Given the description of an element on the screen output the (x, y) to click on. 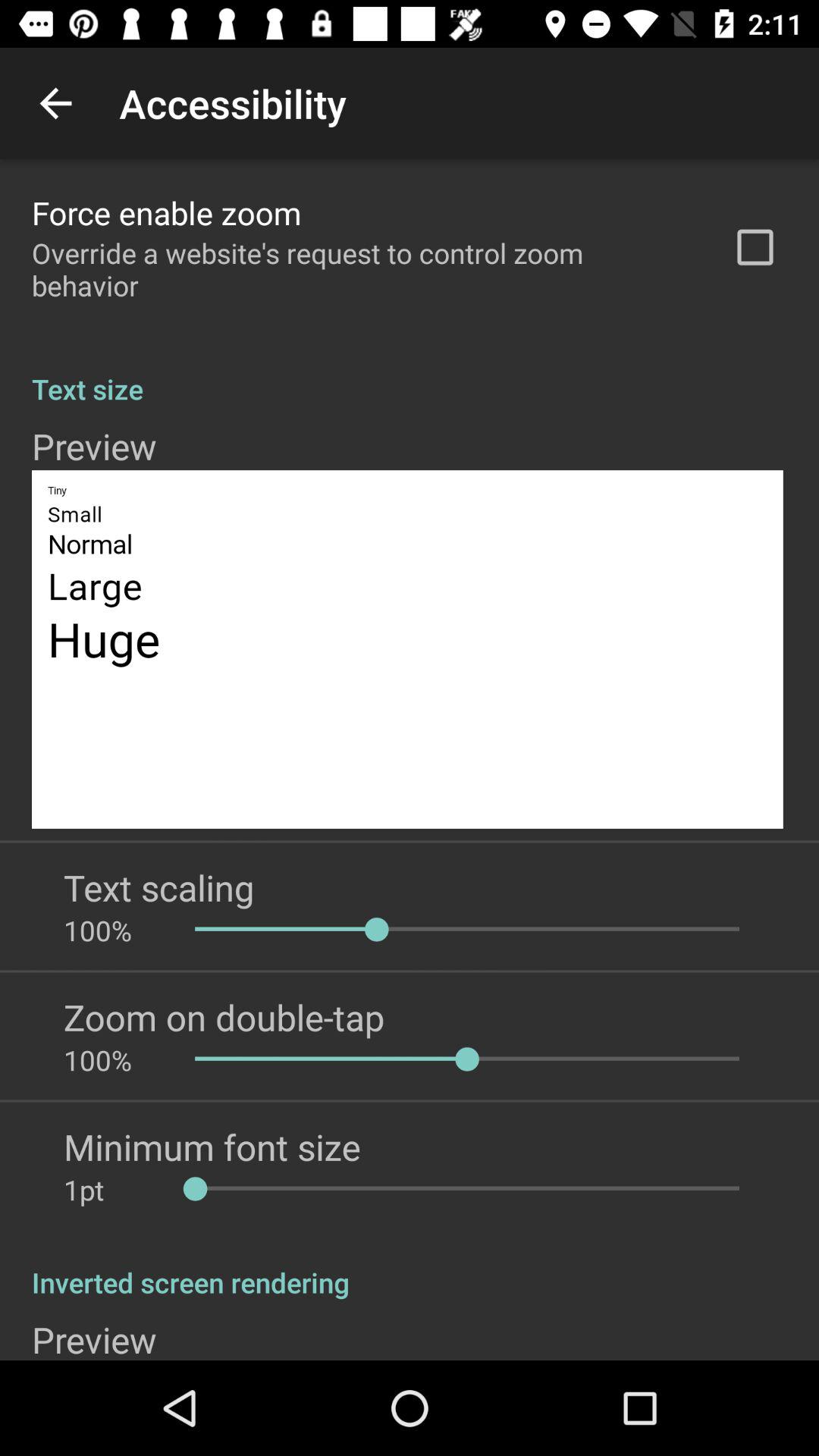
click on the select icon at the right top of the page (755, 247)
